Given the description of an element on the screen output the (x, y) to click on. 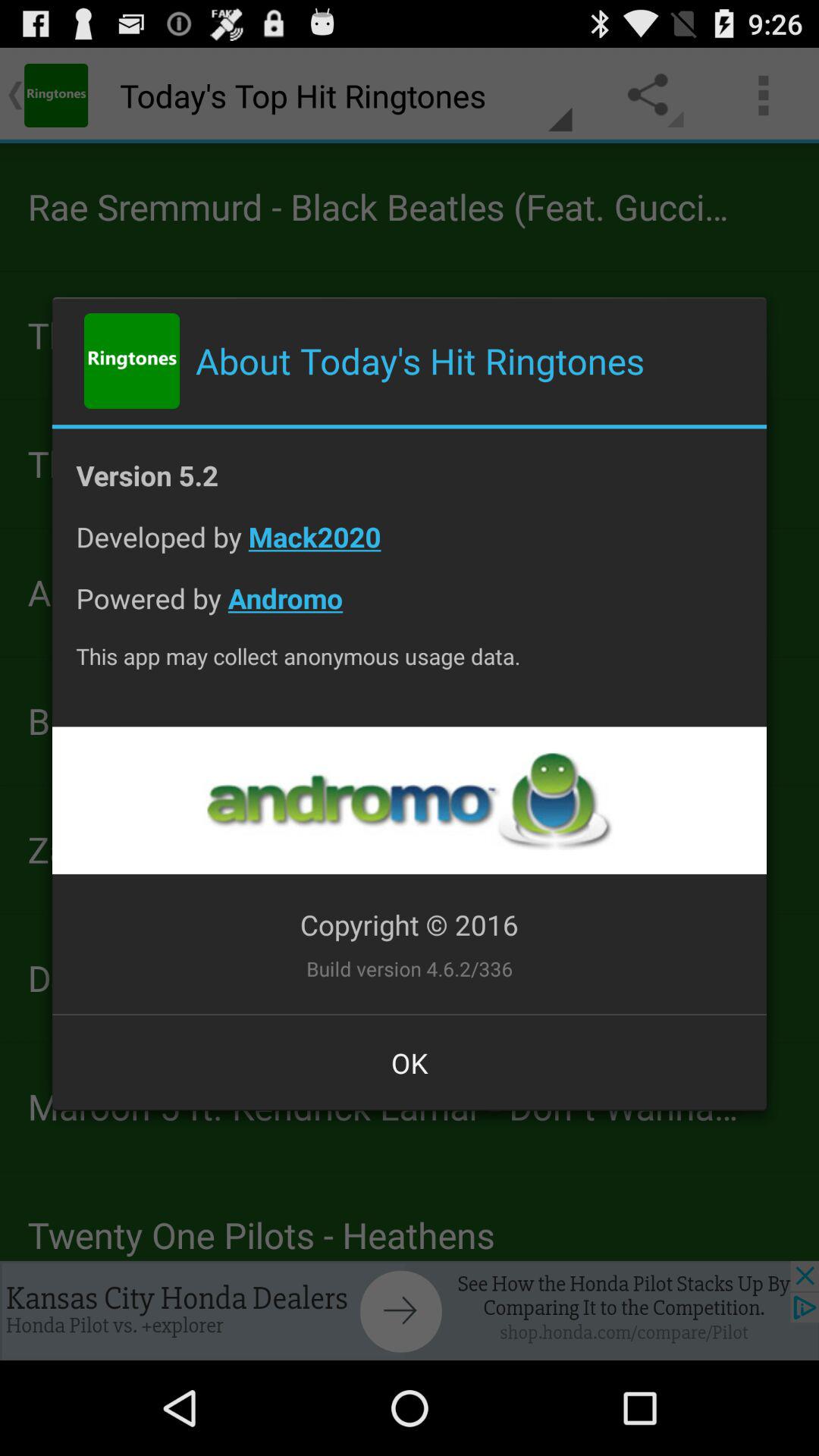
tap the ok icon (409, 1062)
